Given the description of an element on the screen output the (x, y) to click on. 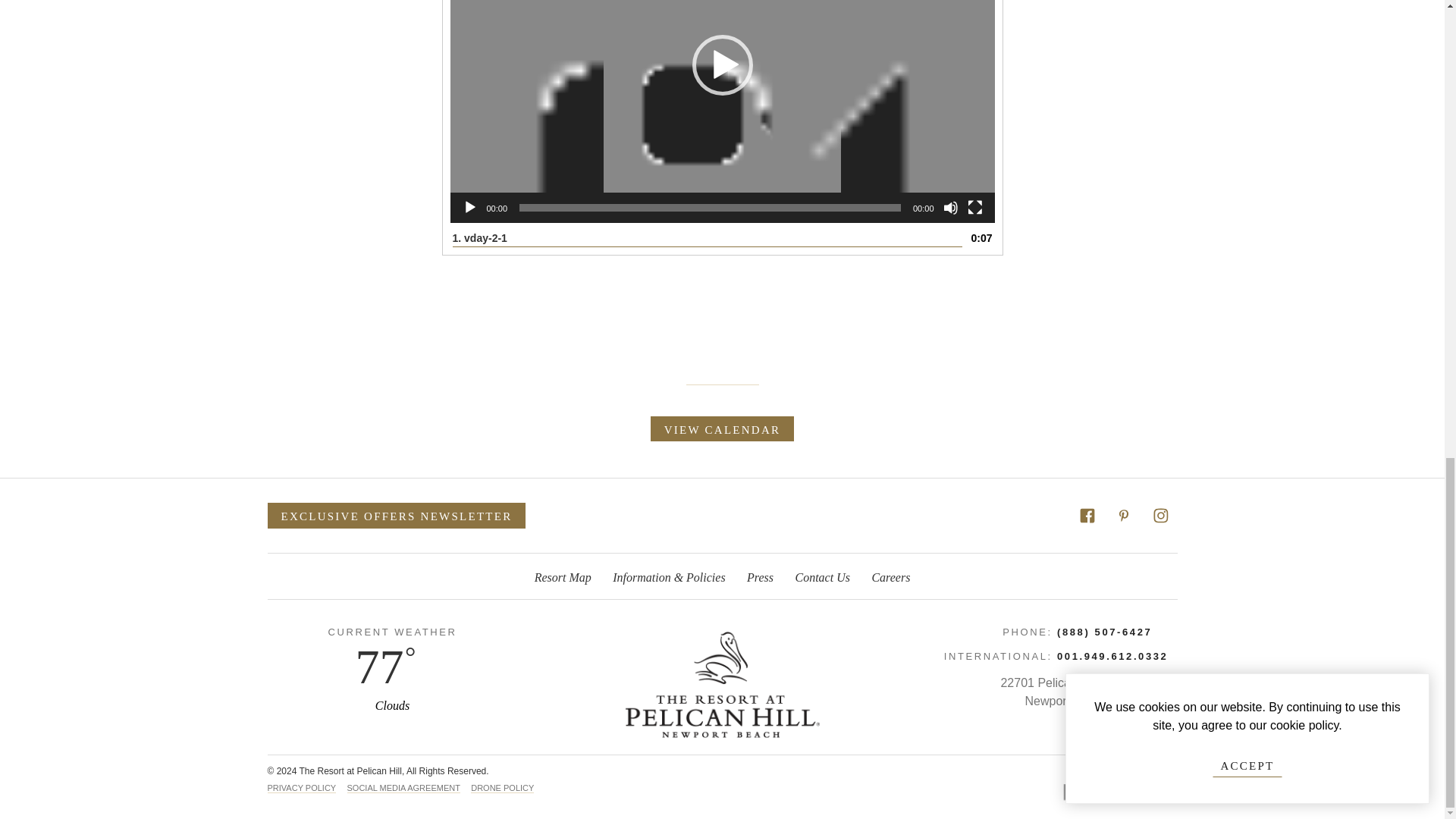
Mute (950, 207)
Pinterest (1123, 515)
Fullscreen (975, 207)
Pinterest (1123, 514)
Home Page (722, 684)
Play (470, 207)
Marriott Bonvoy (1112, 785)
Instagram (1159, 514)
Facebook (1087, 515)
Instagram (1160, 515)
Facebook (1086, 514)
